Given the description of an element on the screen output the (x, y) to click on. 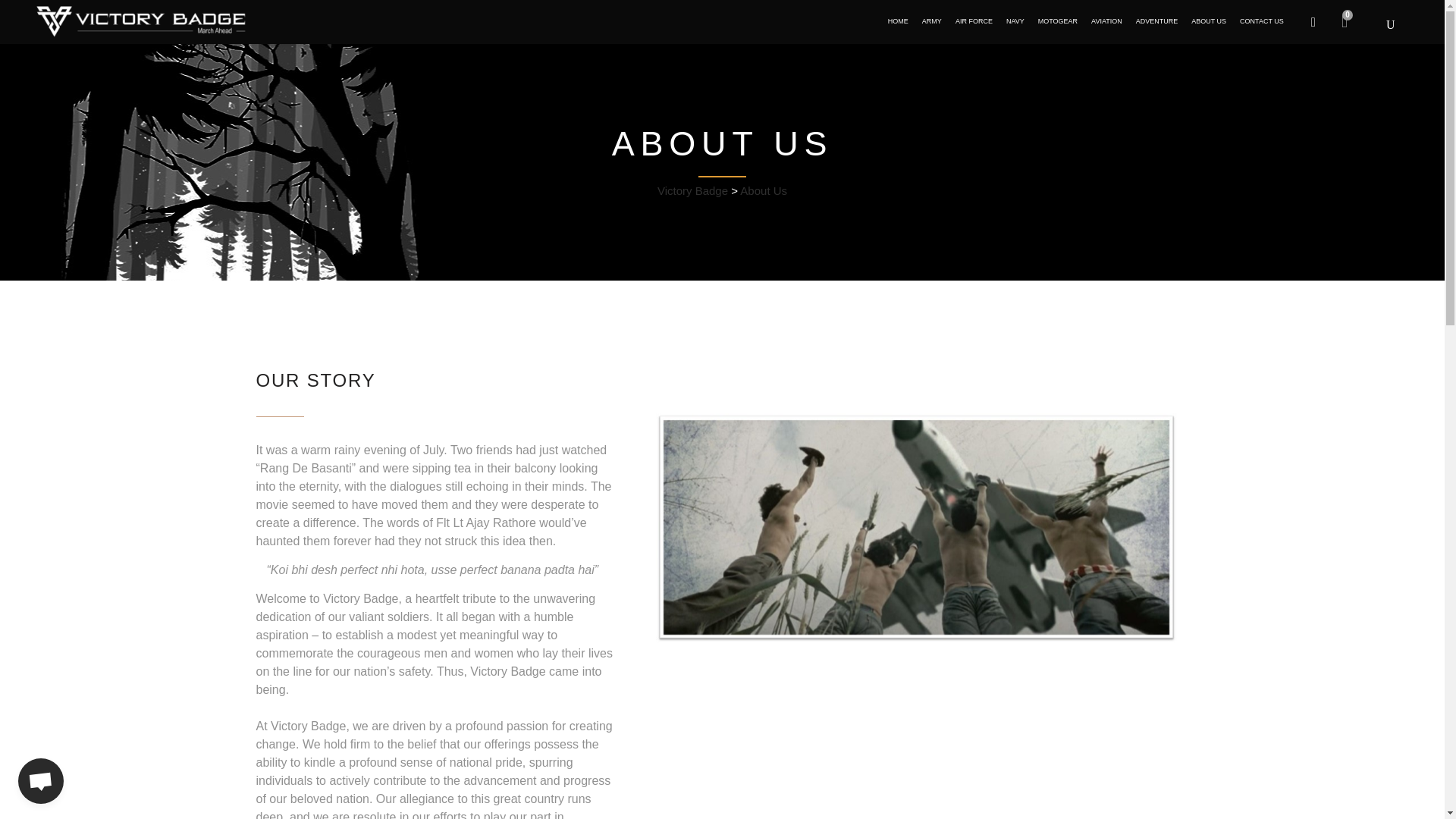
Go to Victory Badge. (693, 190)
About Us (763, 190)
AIR FORCE (973, 21)
ADVENTURE (1157, 21)
CONTACT US (1261, 21)
Go to About Us. (763, 190)
ABOUT US (1209, 21)
Victory Badge (693, 190)
MOTOGEAR (1057, 21)
about-us2 (916, 527)
AVIATION (1106, 21)
